Given the description of an element on the screen output the (x, y) to click on. 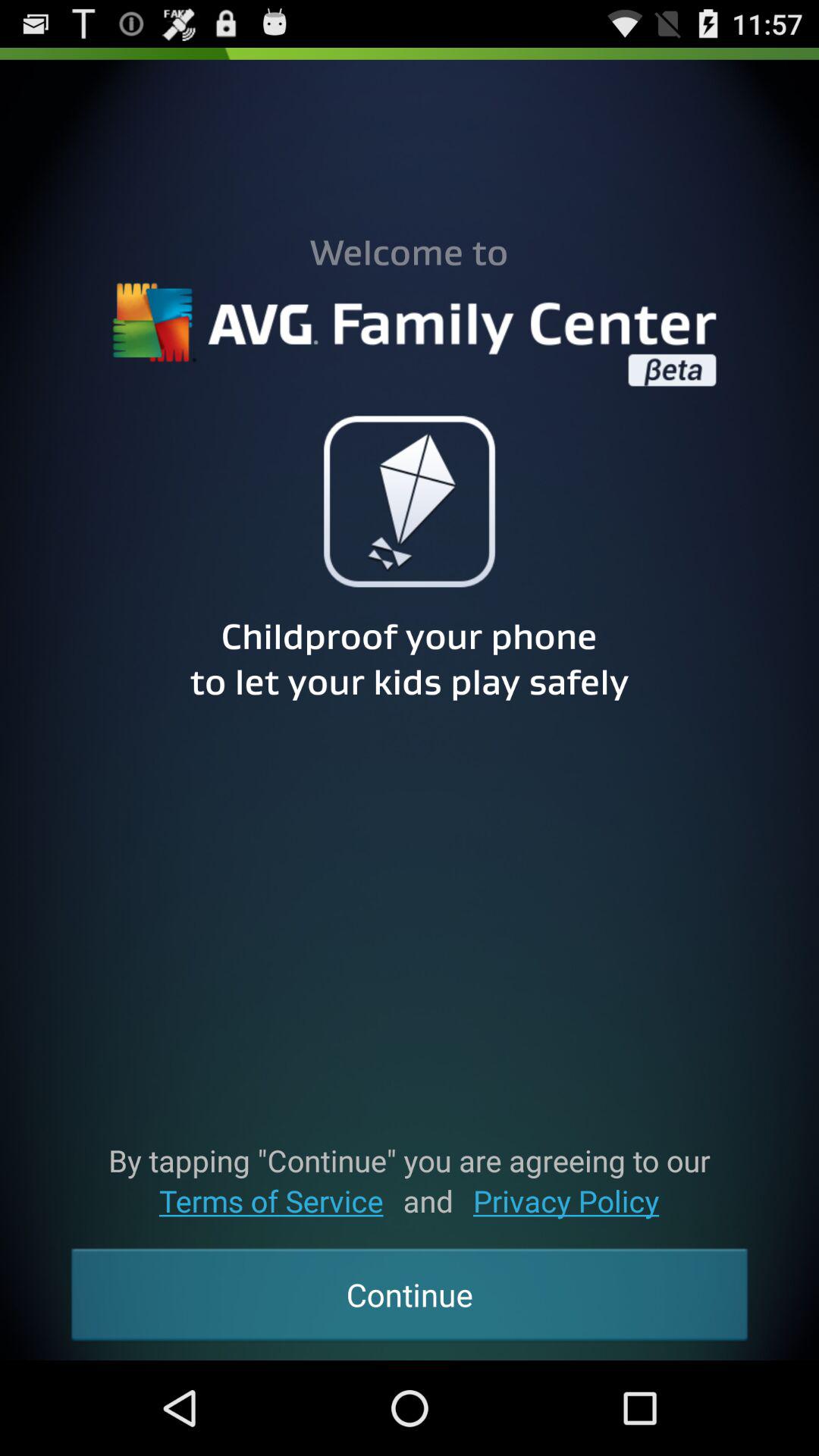
flip to the privacy policy app (566, 1200)
